Given the description of an element on the screen output the (x, y) to click on. 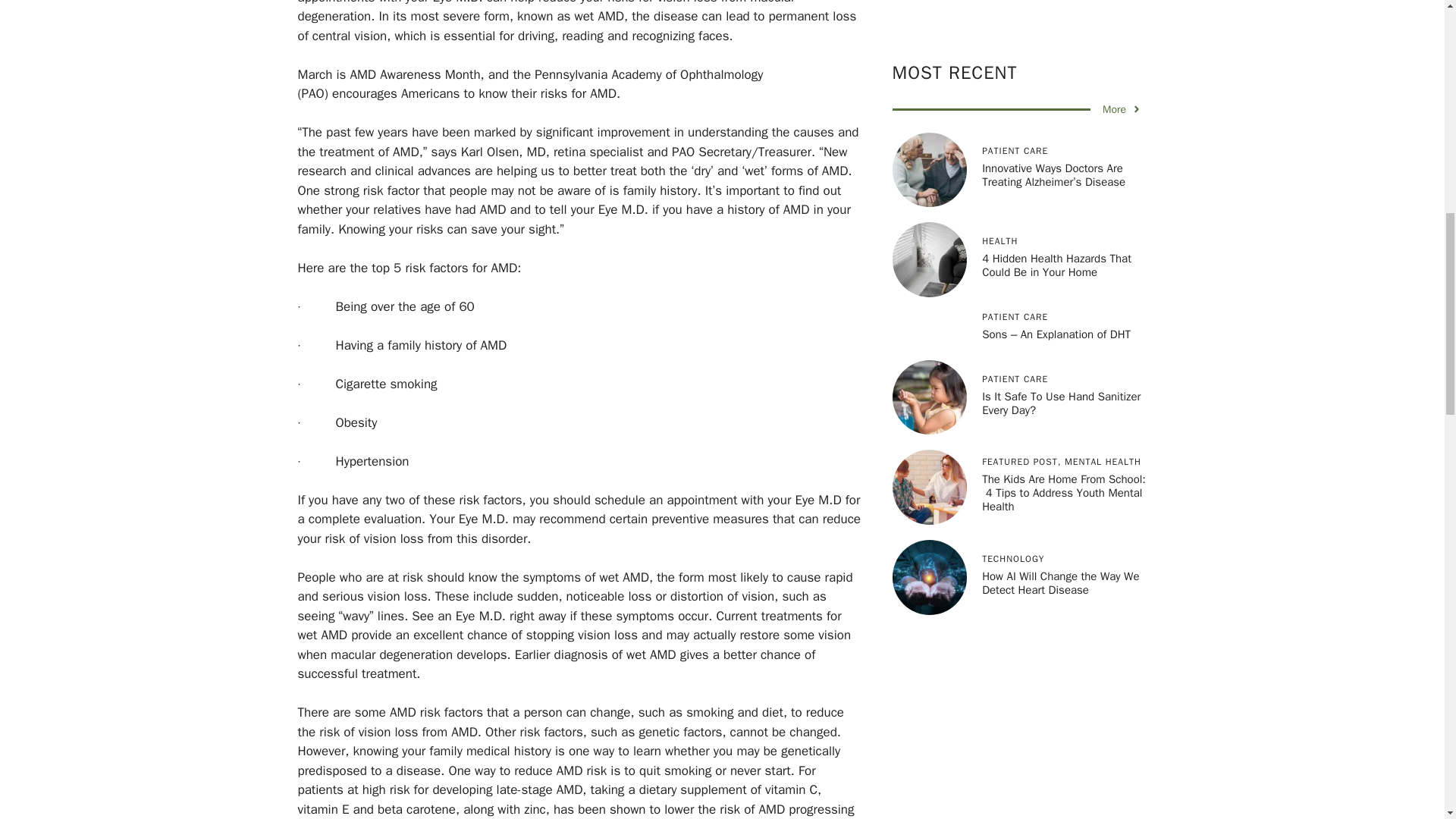
How AI Will Change the Way We Detect Heart Disease (1059, 471)
More (1121, 2)
4 Hidden Health Hazards That Could Be in Your Home (1056, 153)
Is It Safe To Use Hand Sanitizer Every Day? (1060, 291)
